Given the description of an element on the screen output the (x, y) to click on. 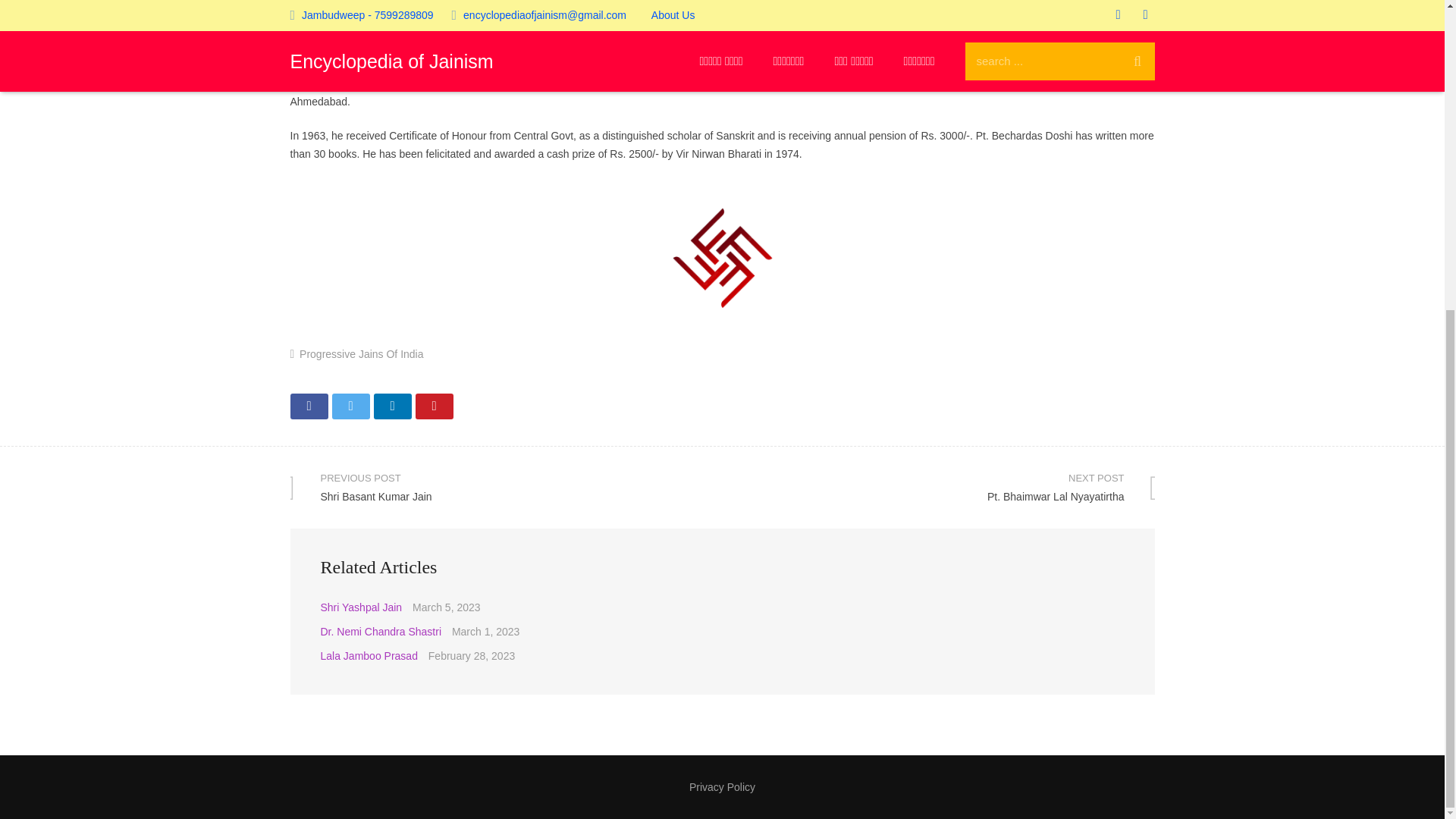
Pin this (505, 487)
Dr. Nemi Chandra Shastri (433, 406)
Share this (380, 631)
Lala Jamboo Prasad (391, 406)
Tweet this (368, 655)
Shri Yashpal Jain (350, 406)
Share this (360, 607)
Progressive Jains Of India (308, 406)
Privacy Policy (938, 487)
